Given the description of an element on the screen output the (x, y) to click on. 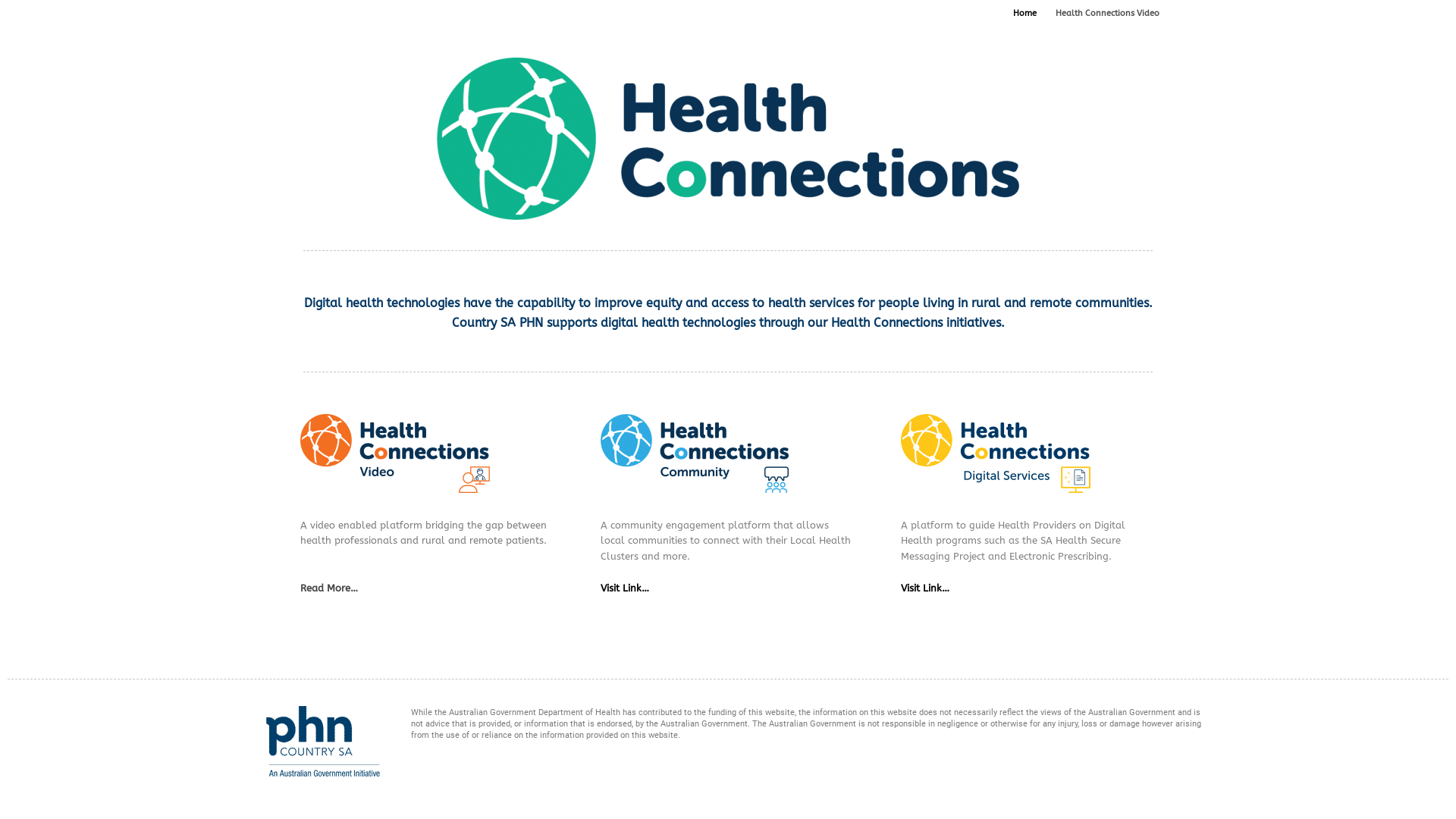
Health Connections Video Element type: text (1107, 13)
Home Element type: text (1024, 13)
